Given the description of an element on the screen output the (x, y) to click on. 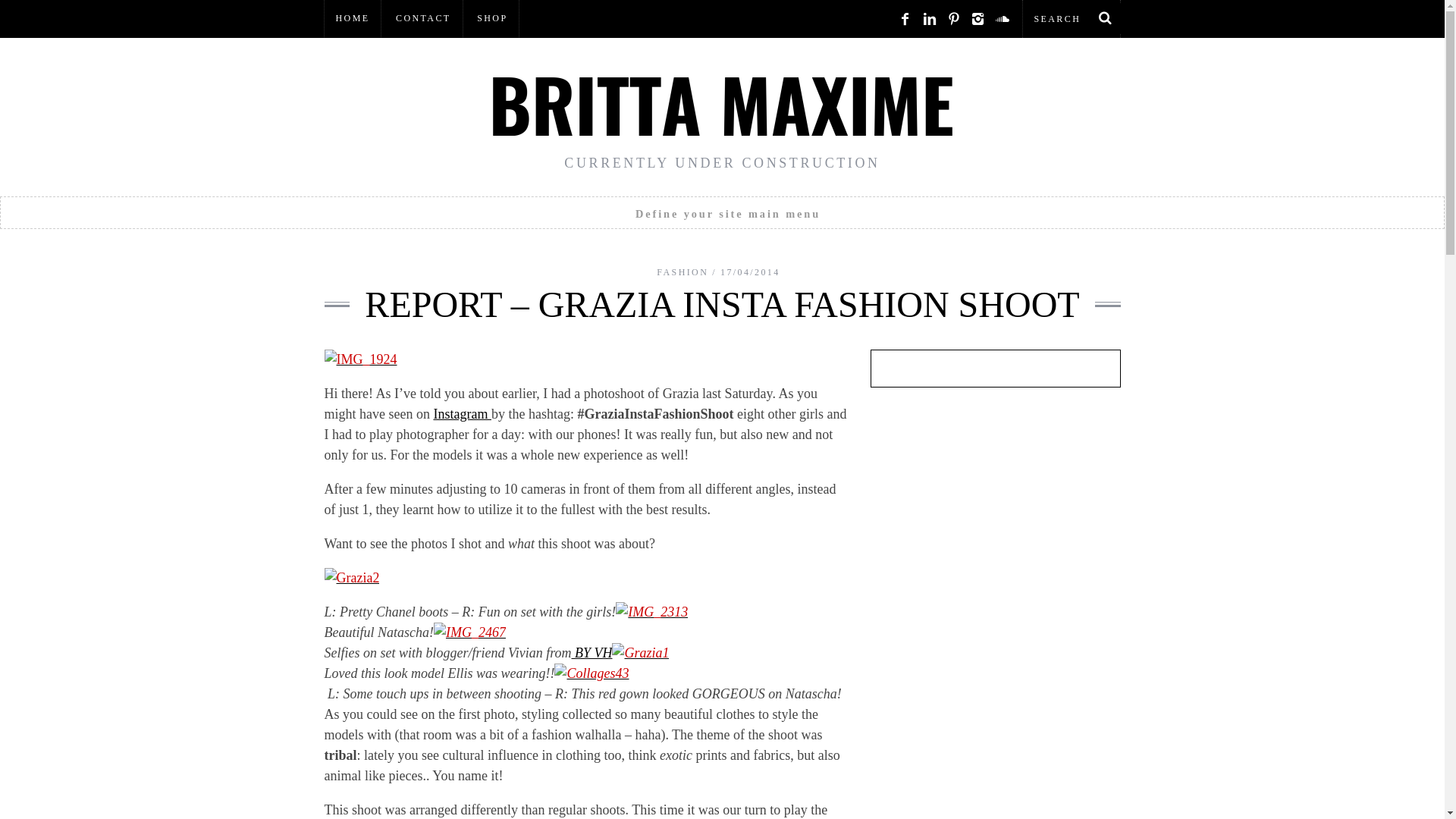
CONTACT (423, 18)
SHOP (491, 18)
BY VH  (590, 652)
Search (1071, 18)
Instagram (461, 413)
HOME (352, 18)
